Given the description of an element on the screen output the (x, y) to click on. 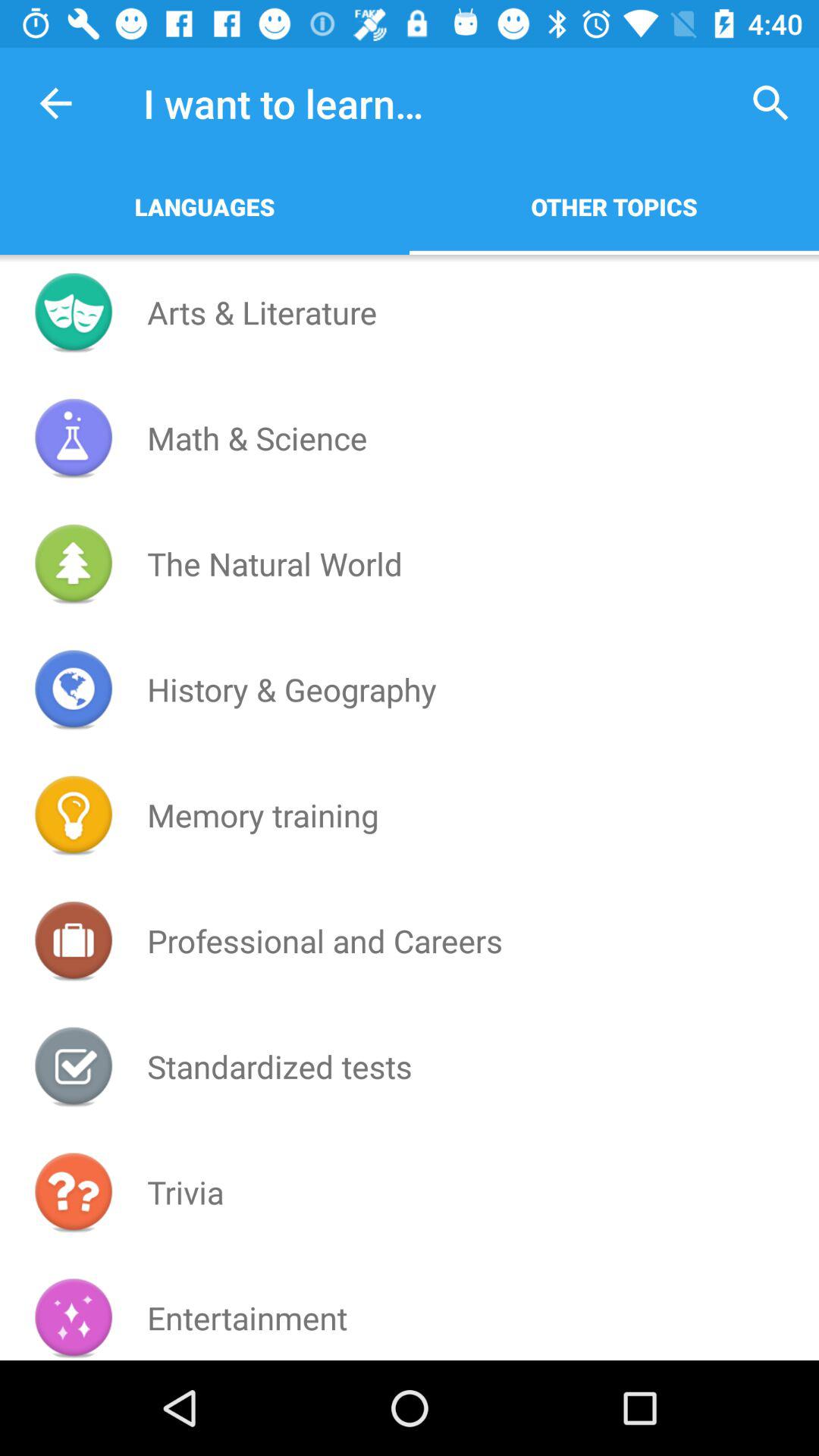
turn on icon next to i want to (771, 103)
